Given the description of an element on the screen output the (x, y) to click on. 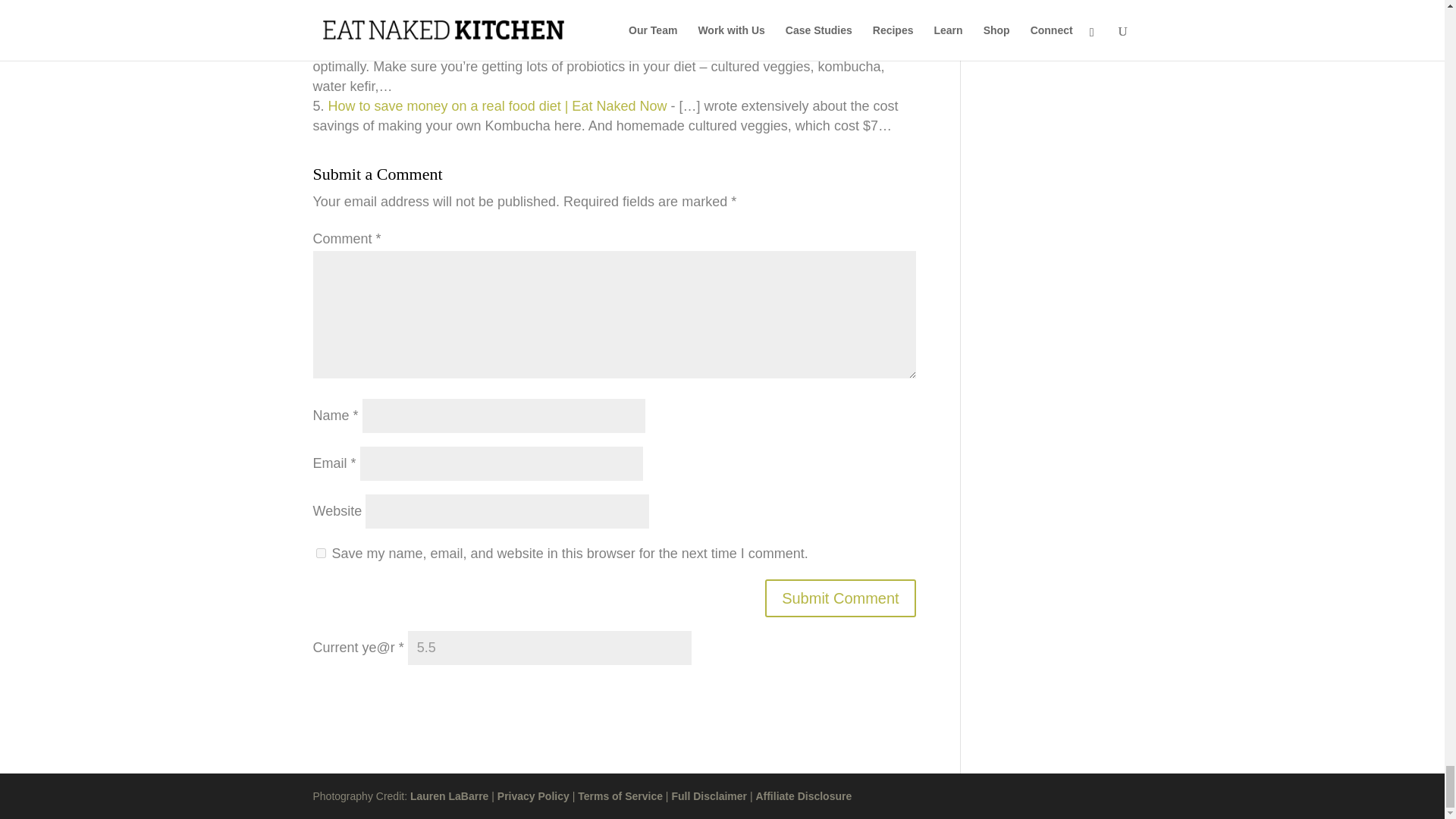
yes (319, 552)
5.5 (549, 647)
Submit Comment (840, 598)
